Given the description of an element on the screen output the (x, y) to click on. 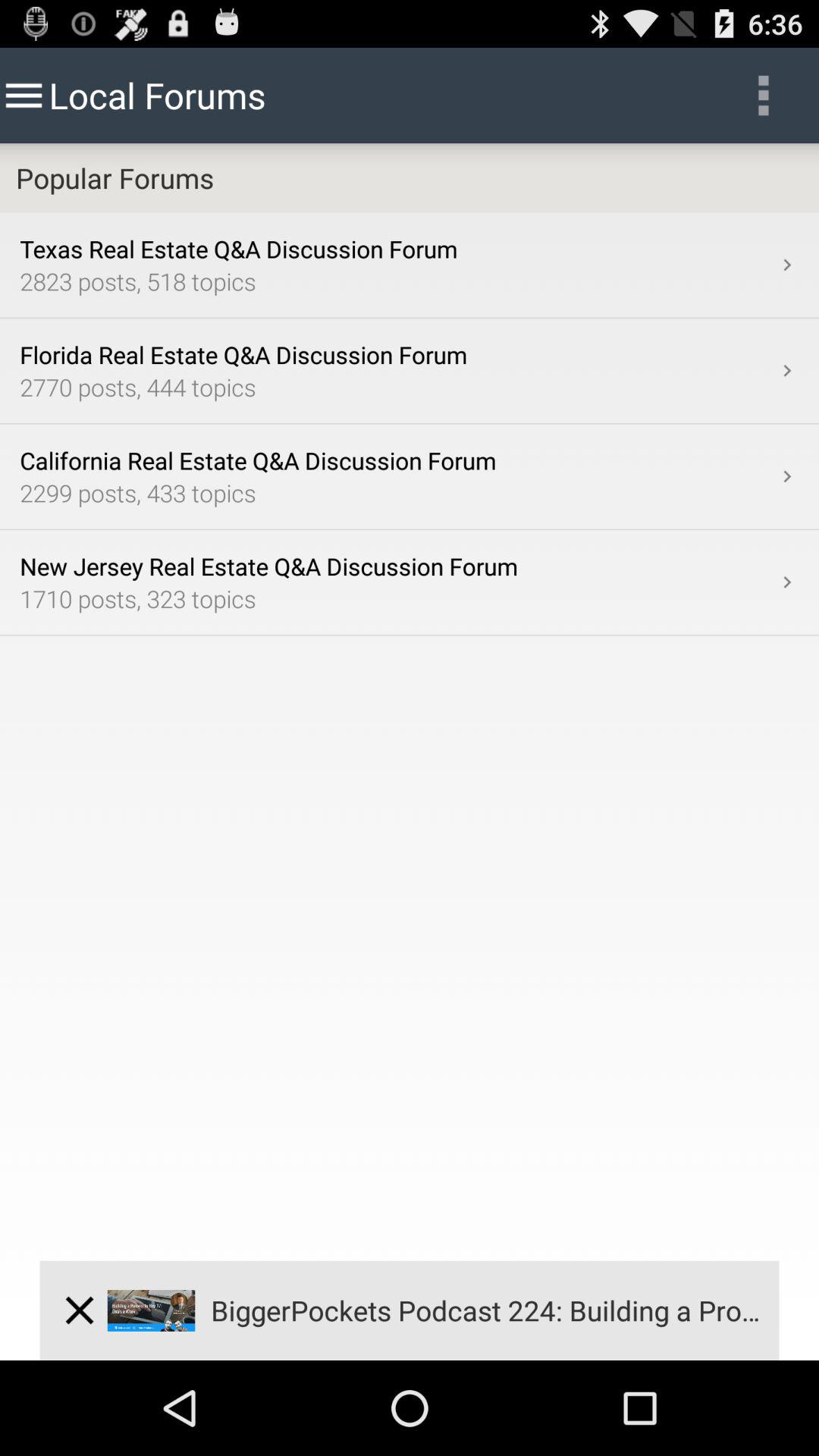
tap the item next to the texas real estate app (787, 264)
